Given the description of an element on the screen output the (x, y) to click on. 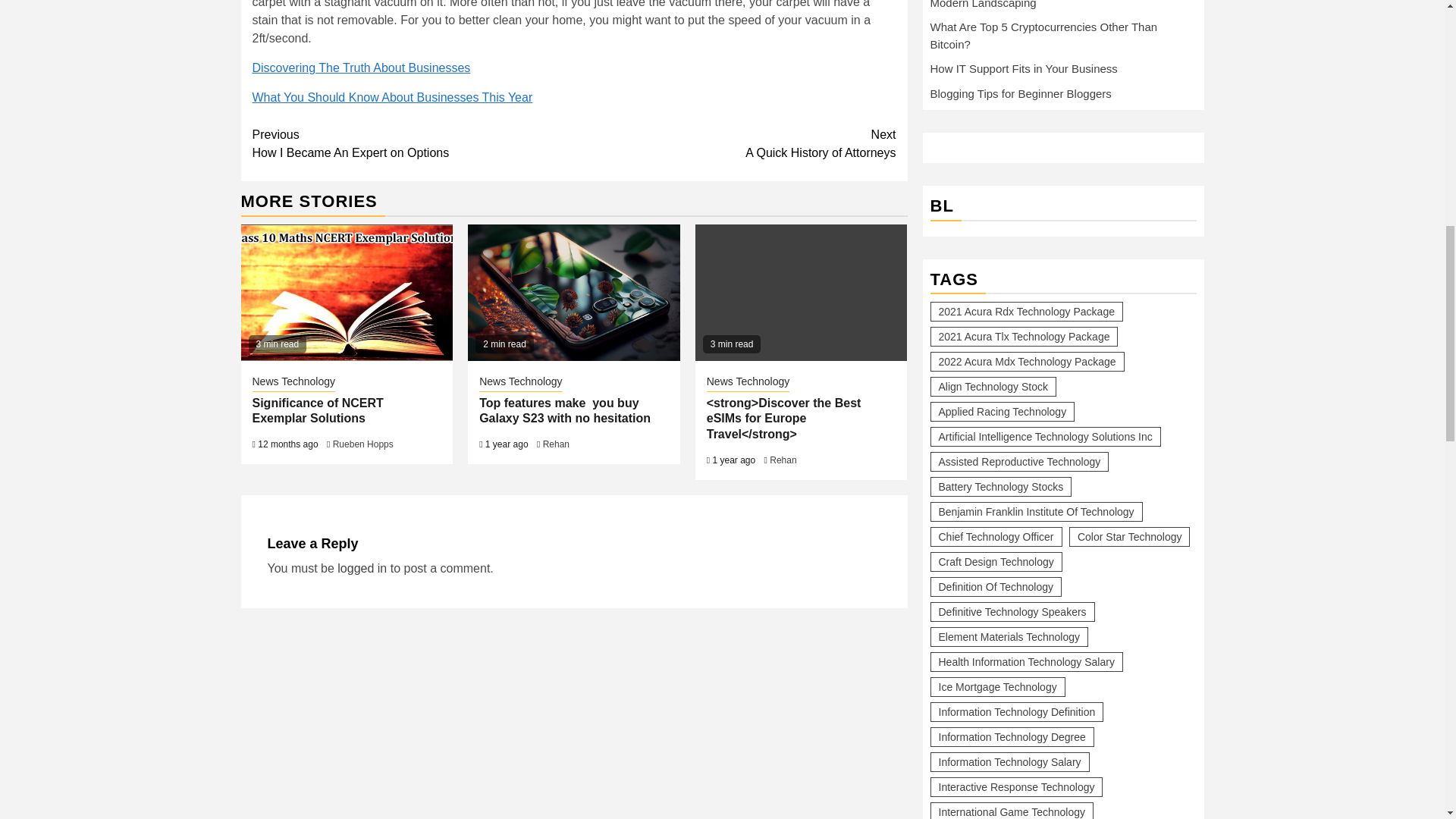
Rehan (556, 443)
What You Should Know About Businesses This Year (391, 97)
Significance of NCERT Exemplar Solutions (316, 410)
News Technology (747, 382)
Discovering The Truth About Businesses (360, 67)
Rehan (412, 144)
News Technology (783, 460)
Top features make  you buy Galaxy S23 with no hesitation (292, 382)
logged in (734, 144)
News Technology (564, 410)
Significance of NCERT Exemplar Solutions (362, 567)
Rueben Hopps (520, 382)
